Given the description of an element on the screen output the (x, y) to click on. 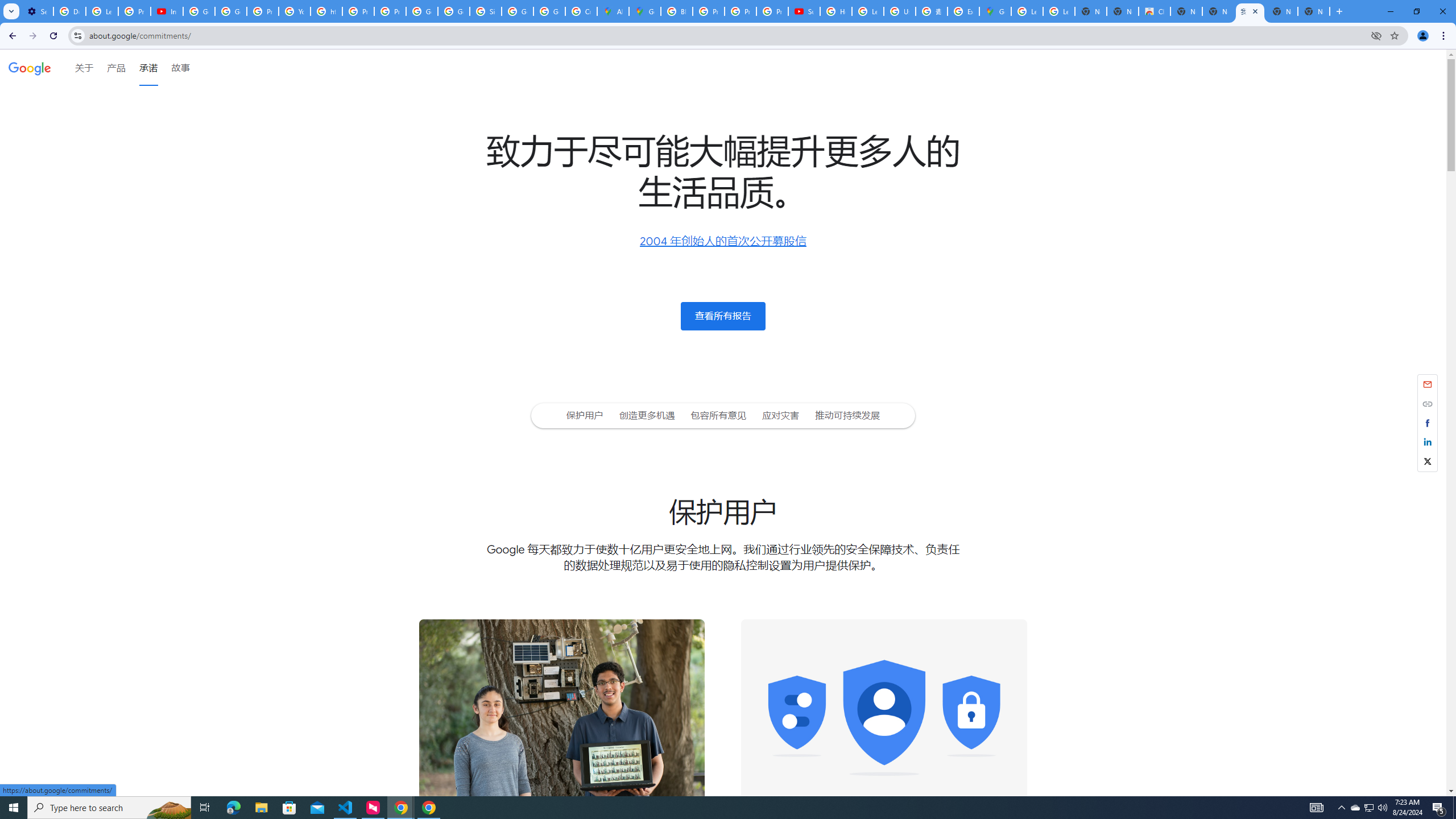
Settings - Customize profile (37, 11)
Privacy Help Center - Policies Help (740, 11)
Introduction | Google Privacy Policy - YouTube (166, 11)
Privacy Help Center - Policies Help (708, 11)
Chrome Web Store (1154, 11)
New Tab (1313, 11)
